Given the description of an element on the screen output the (x, y) to click on. 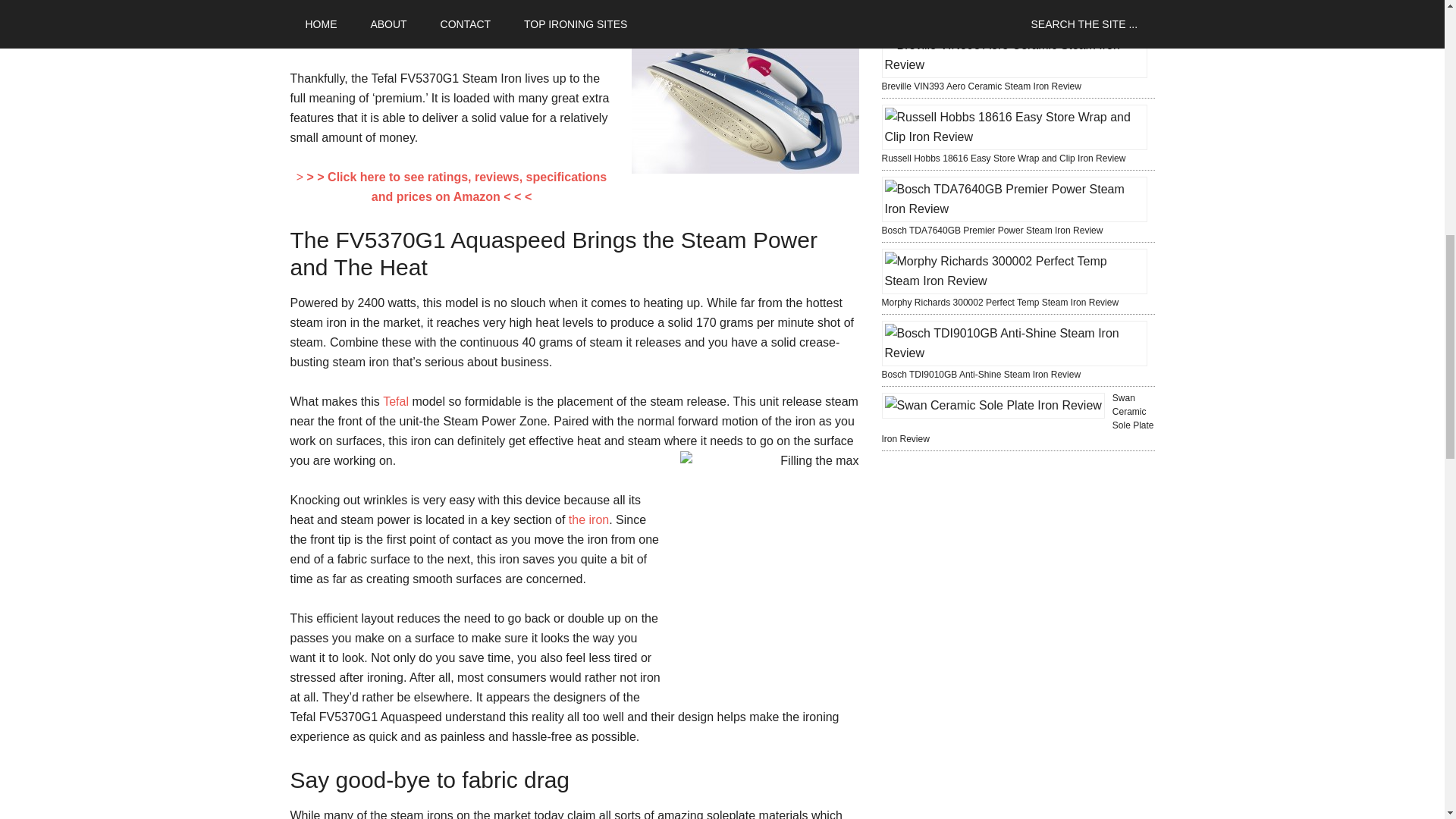
Permalink to Bosch TDI9010GB Anti-Shine Steam Iron Review (980, 374)
the iron (588, 519)
Permalink to Breville VIN393 Aero Ceramic Steam Iron Review (980, 86)
Permalink to Swan Ceramic Sole Plate Iron Review (1016, 418)
Tefal (395, 400)
Permalink to Bosch TDA7640GB Premier Power Steam Iron Review (991, 230)
